Given the description of an element on the screen output the (x, y) to click on. 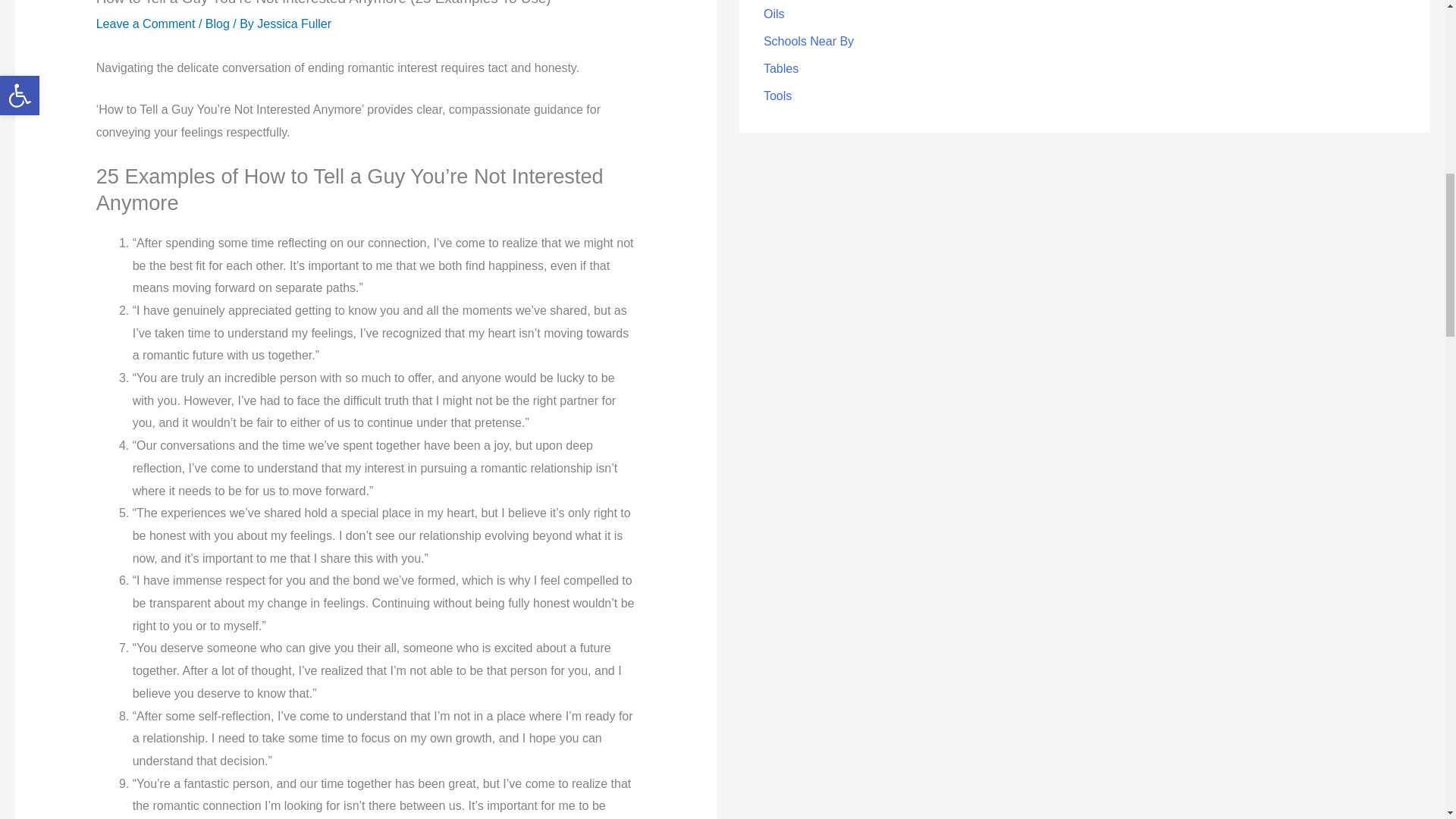
View all posts by Jessica Fuller (294, 23)
Blog (217, 23)
Jessica Fuller (294, 23)
Leave a Comment (145, 23)
